Given the description of an element on the screen output the (x, y) to click on. 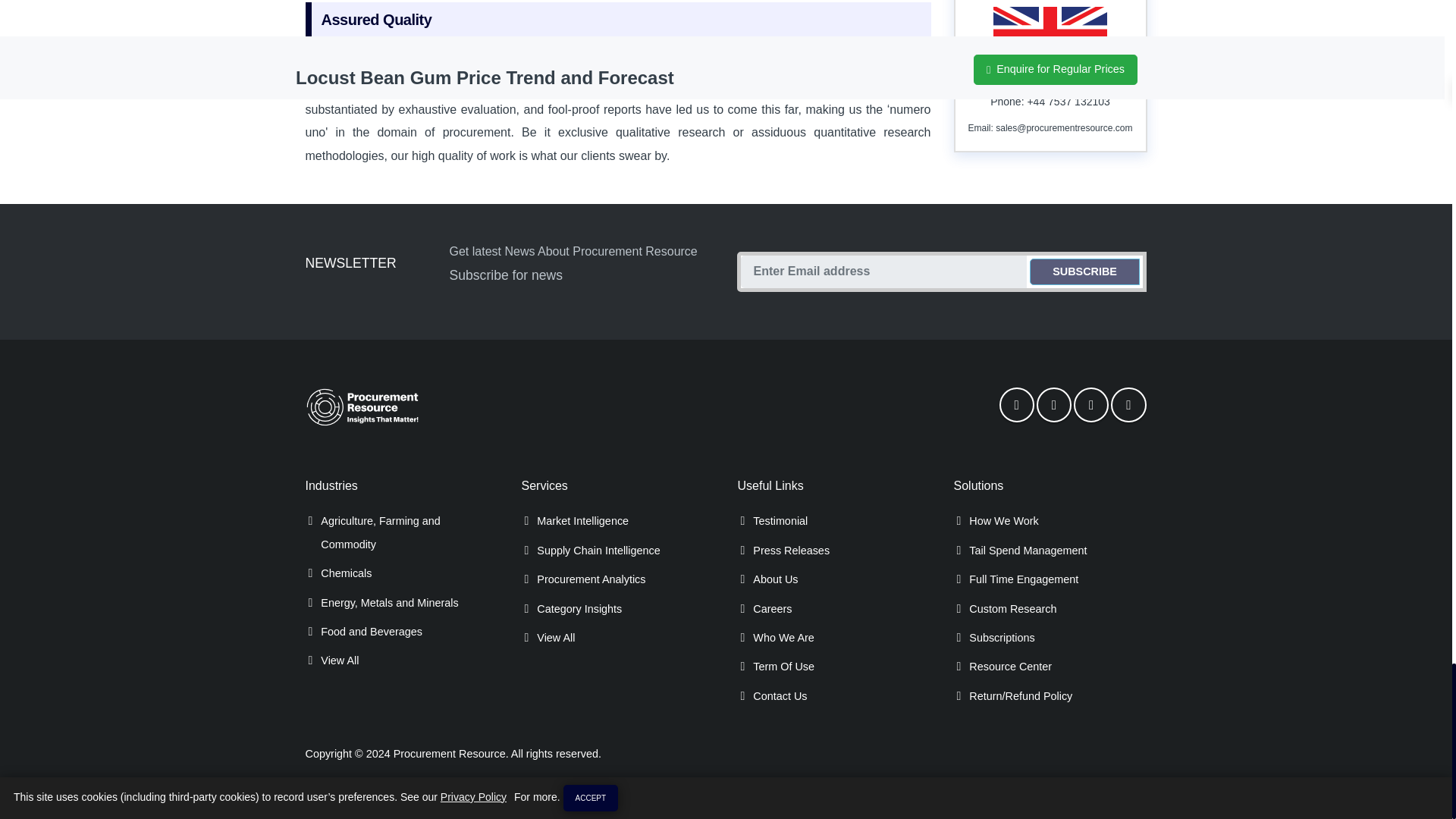
Twitter (1053, 404)
Linkedin (1091, 404)
Instragram (1127, 404)
Facebook (1015, 404)
